Given the description of an element on the screen output the (x, y) to click on. 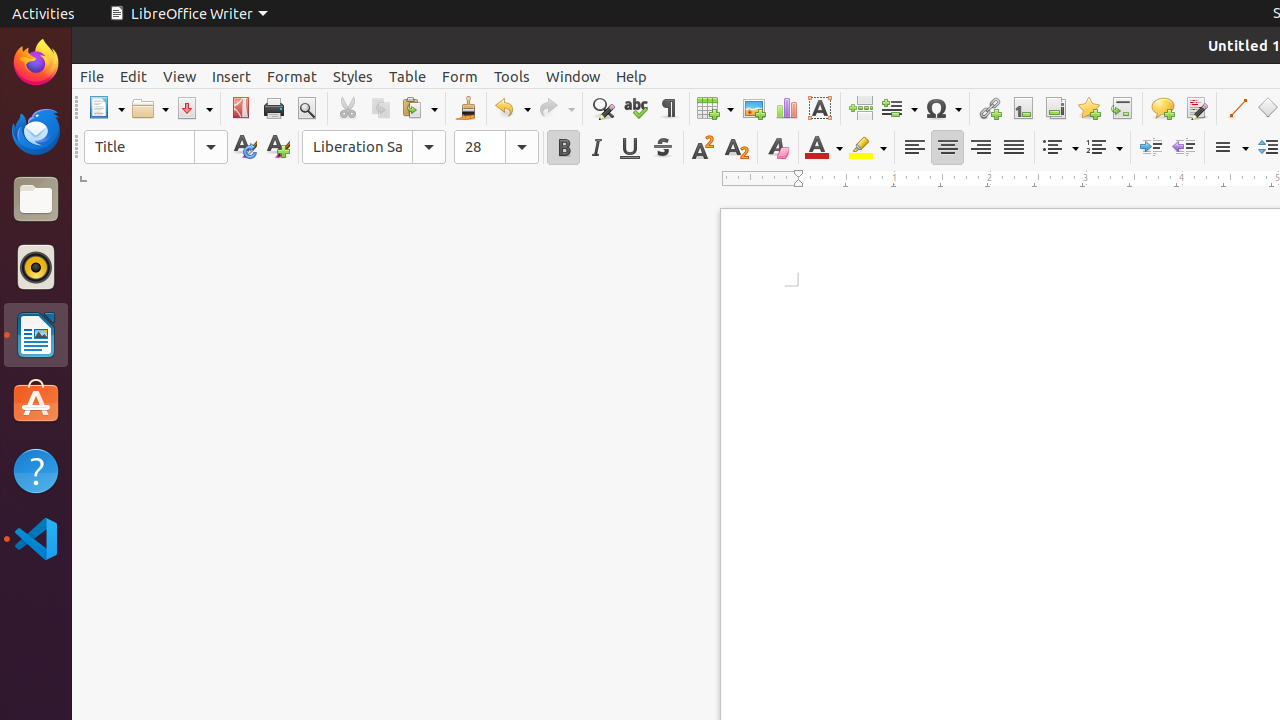
Form Element type: menu (460, 76)
Subscript Element type: toggle-button (736, 147)
Print Preview Element type: toggle-button (306, 108)
Bullets Element type: push-button (1060, 147)
Left Element type: toggle-button (914, 147)
